Given the description of an element on the screen output the (x, y) to click on. 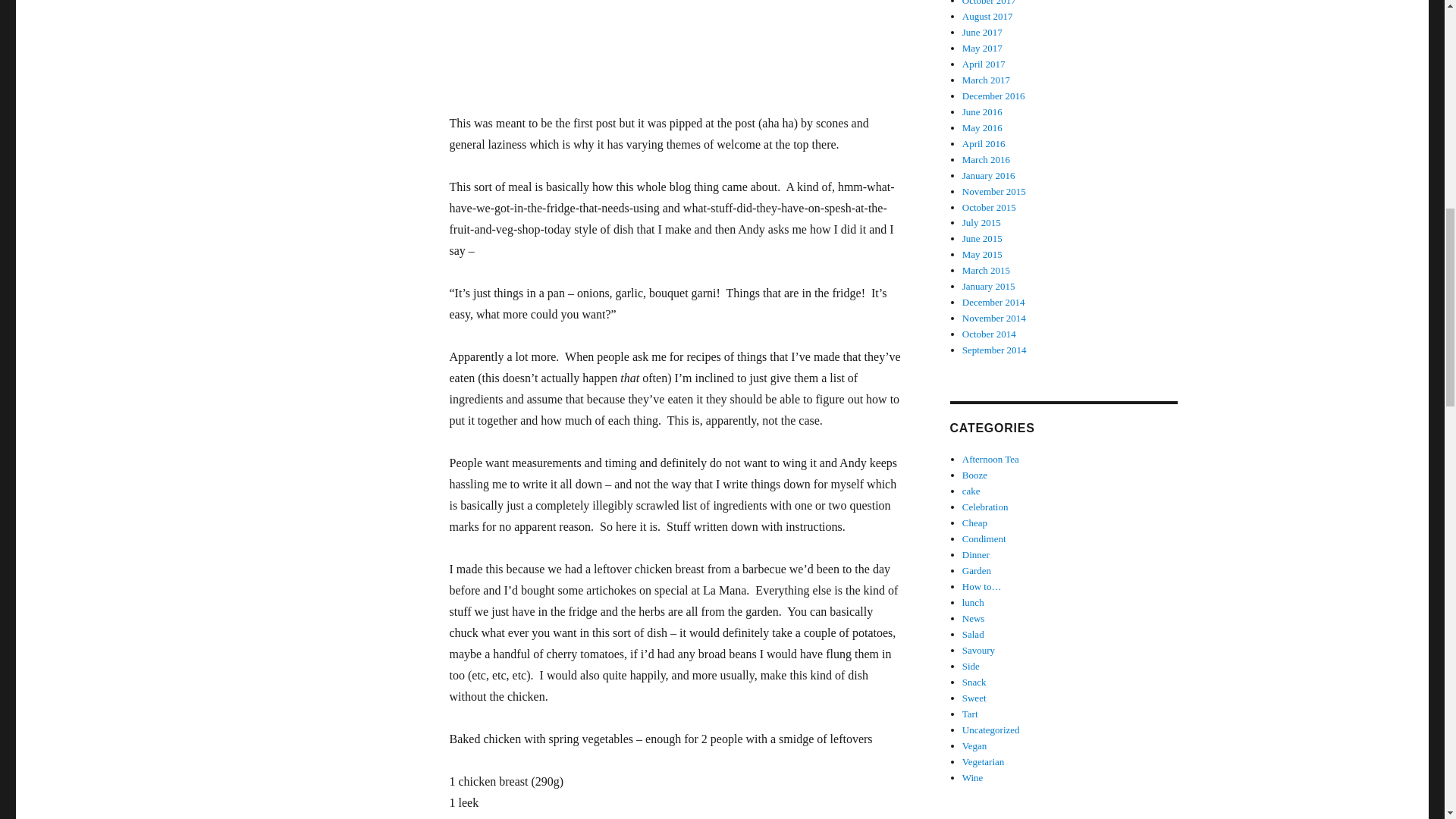
Chicken with spring vegetables (676, 45)
May 2016 (982, 127)
June 2016 (982, 111)
March 2017 (986, 79)
October 2017 (989, 2)
April 2016 (984, 143)
June 2017 (982, 31)
April 2017 (984, 63)
August 2017 (987, 16)
March 2016 (986, 159)
December 2016 (993, 95)
May 2017 (982, 48)
